Given the description of an element on the screen output the (x, y) to click on. 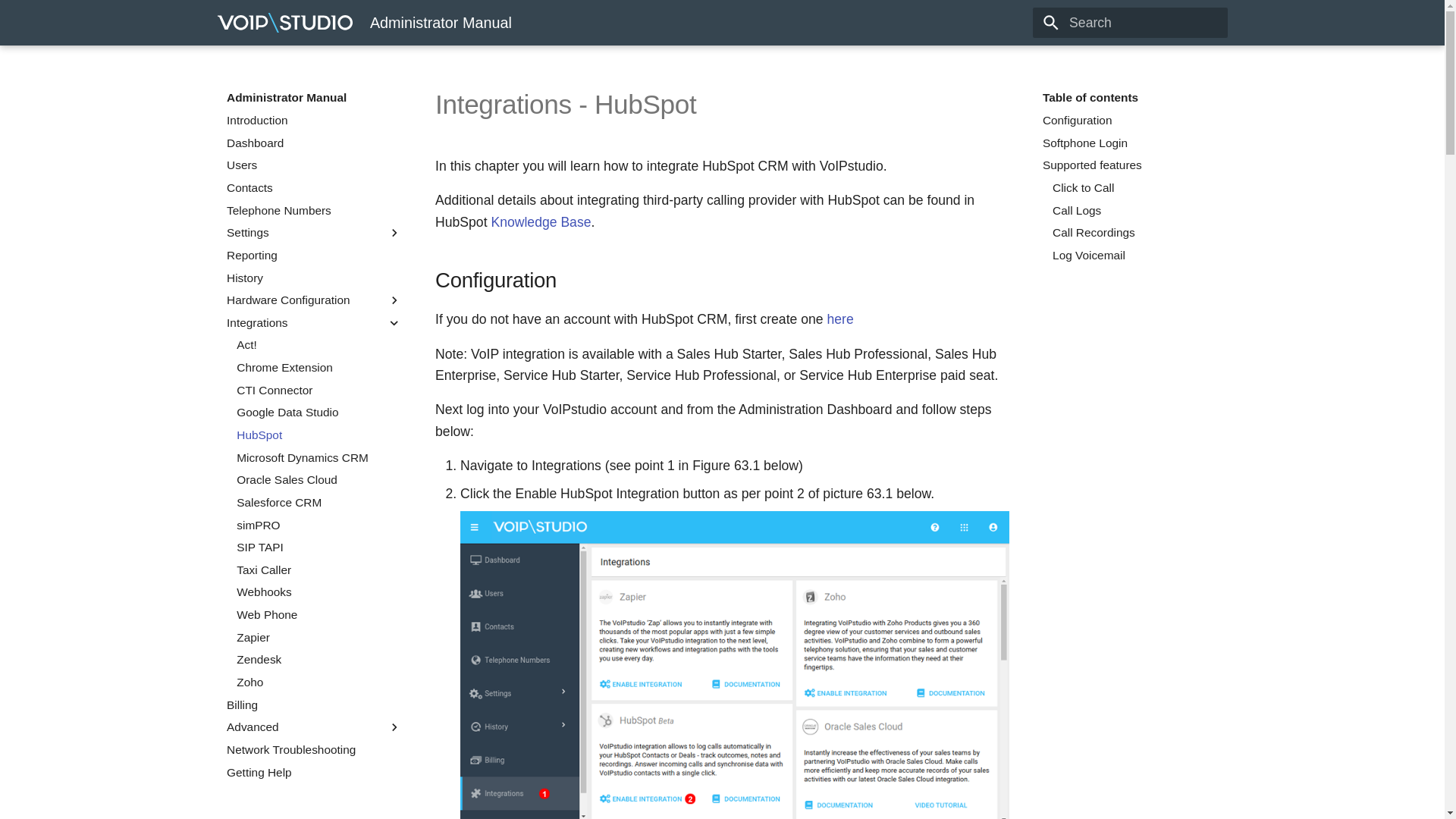
Hardware Configuration (307, 299)
Introduction (314, 120)
History (314, 278)
Users (314, 165)
Contacts (314, 187)
Reporting (314, 255)
Settings (307, 232)
Administrator Manual (284, 22)
Dashboard (314, 142)
Telephone Numbers (314, 210)
